Given the description of an element on the screen output the (x, y) to click on. 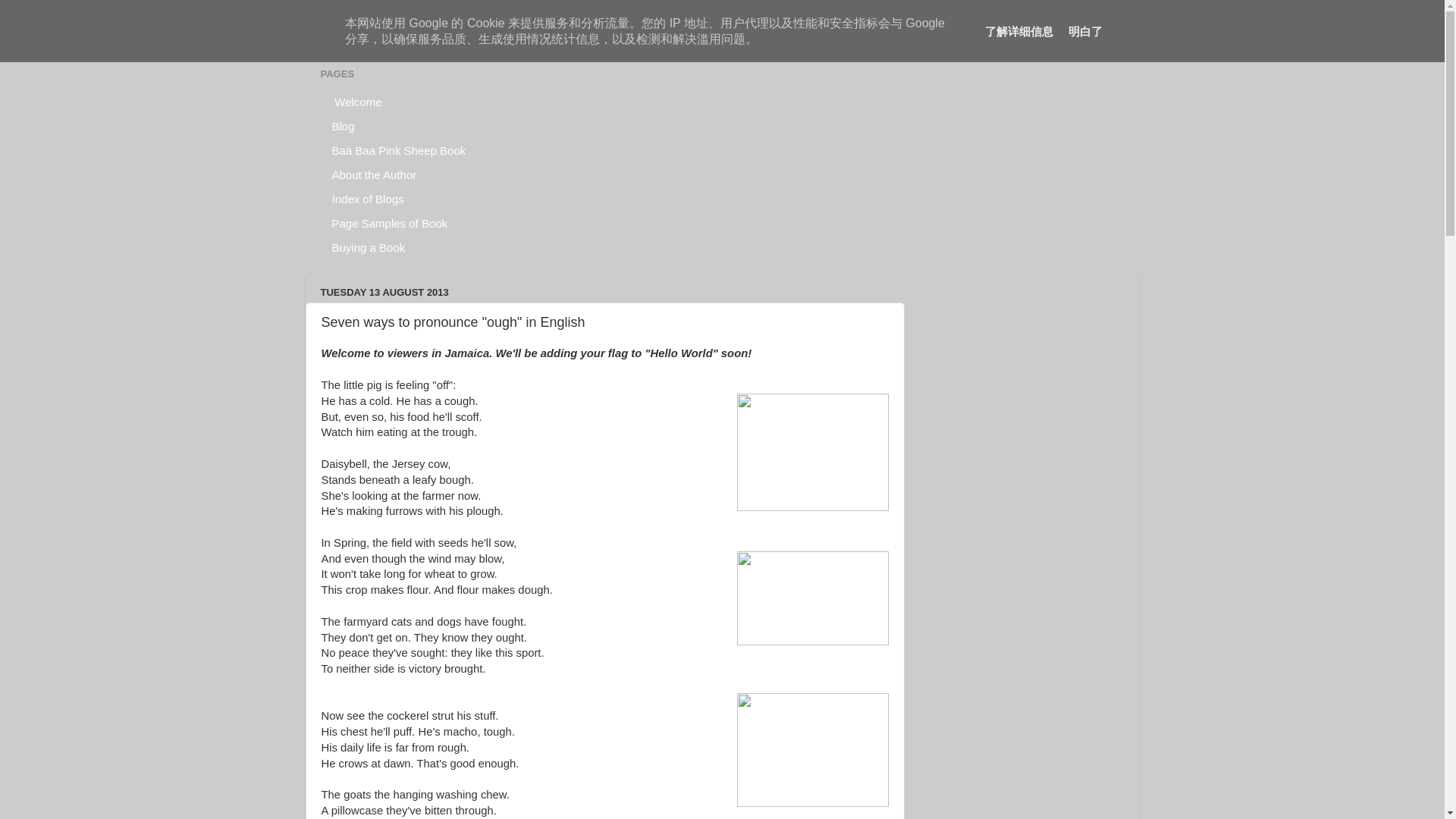
Baa Baa Pink Sheep Book (398, 150)
Page Samples of Book (390, 223)
Blog (343, 126)
Baa Baa Pink Sheep (444, 33)
About the Author (374, 174)
Welcome (356, 102)
Index of Blogs (367, 199)
Buying a Book (368, 247)
